Given the description of an element on the screen output the (x, y) to click on. 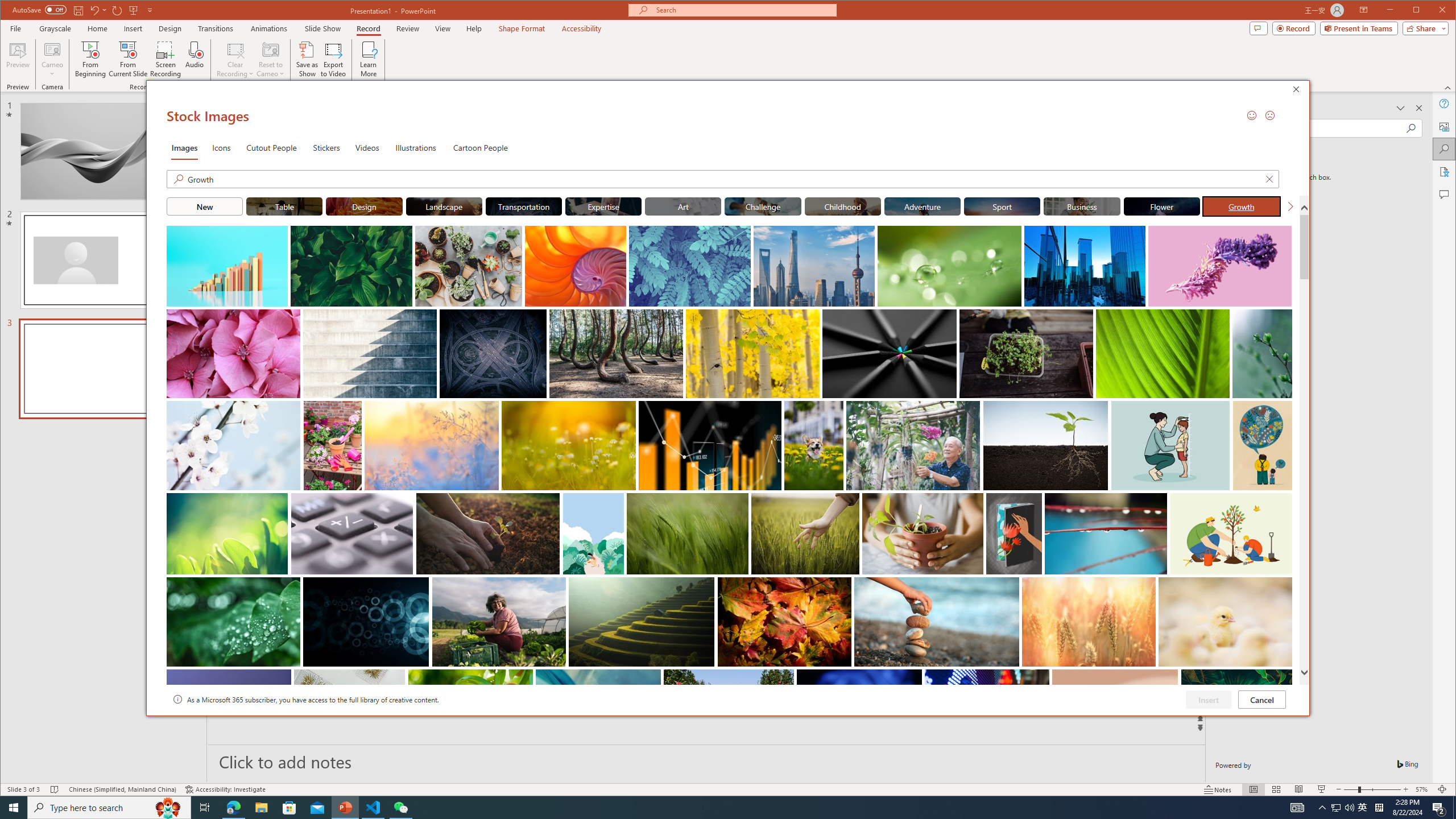
Design (1362, 807)
Maximize (170, 28)
"Growth" Stock Images. (1432, 11)
PowerPoint - 1 running window (1241, 206)
Export to Video (345, 807)
Insert (333, 59)
